Given the description of an element on the screen output the (x, y) to click on. 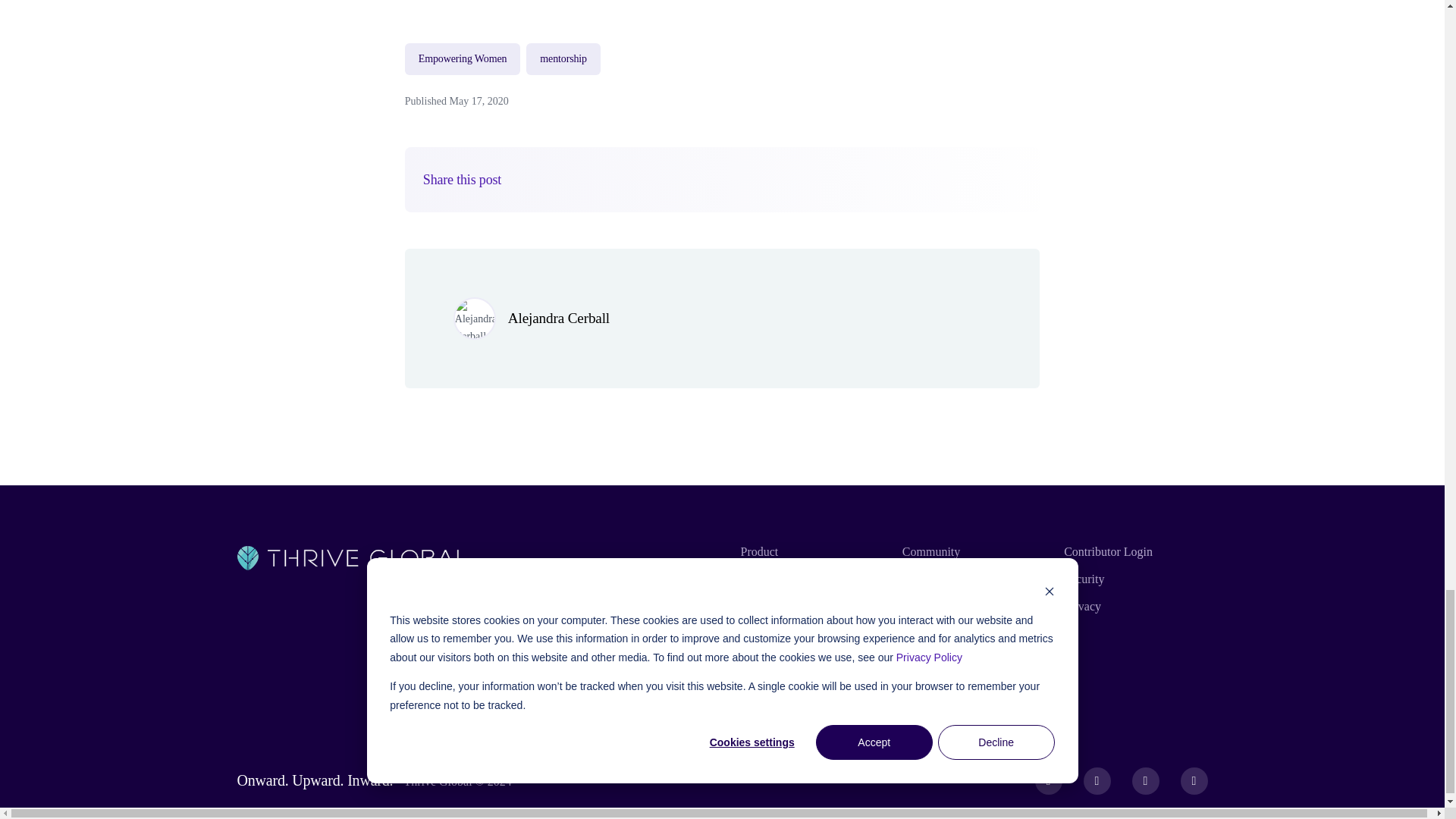
Alejandra Cerball (559, 317)
